Given the description of an element on the screen output the (x, y) to click on. 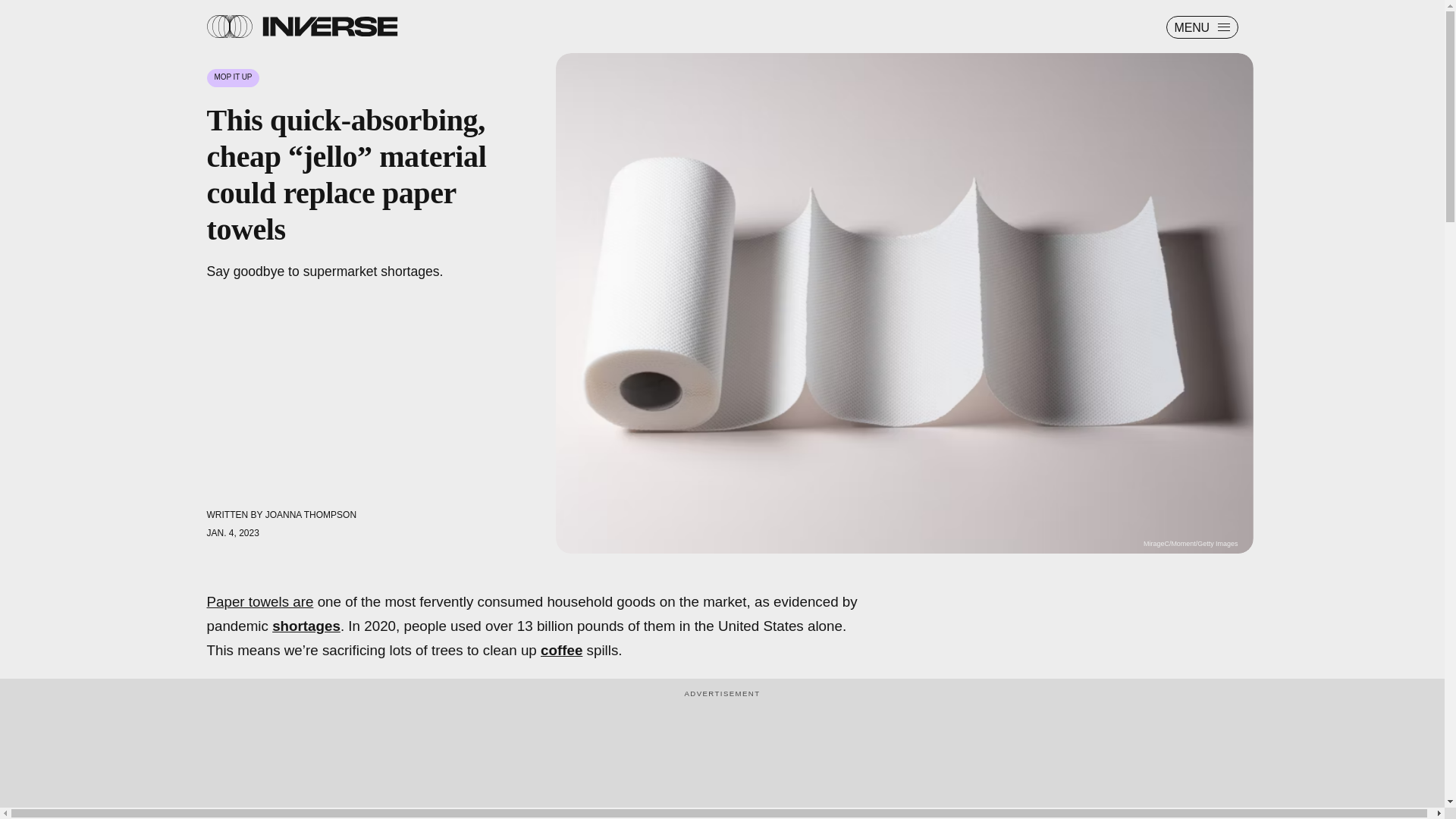
JOANNA THOMPSON (310, 514)
coffee (561, 650)
Inverse (328, 26)
shortages (306, 625)
